Given the description of an element on the screen output the (x, y) to click on. 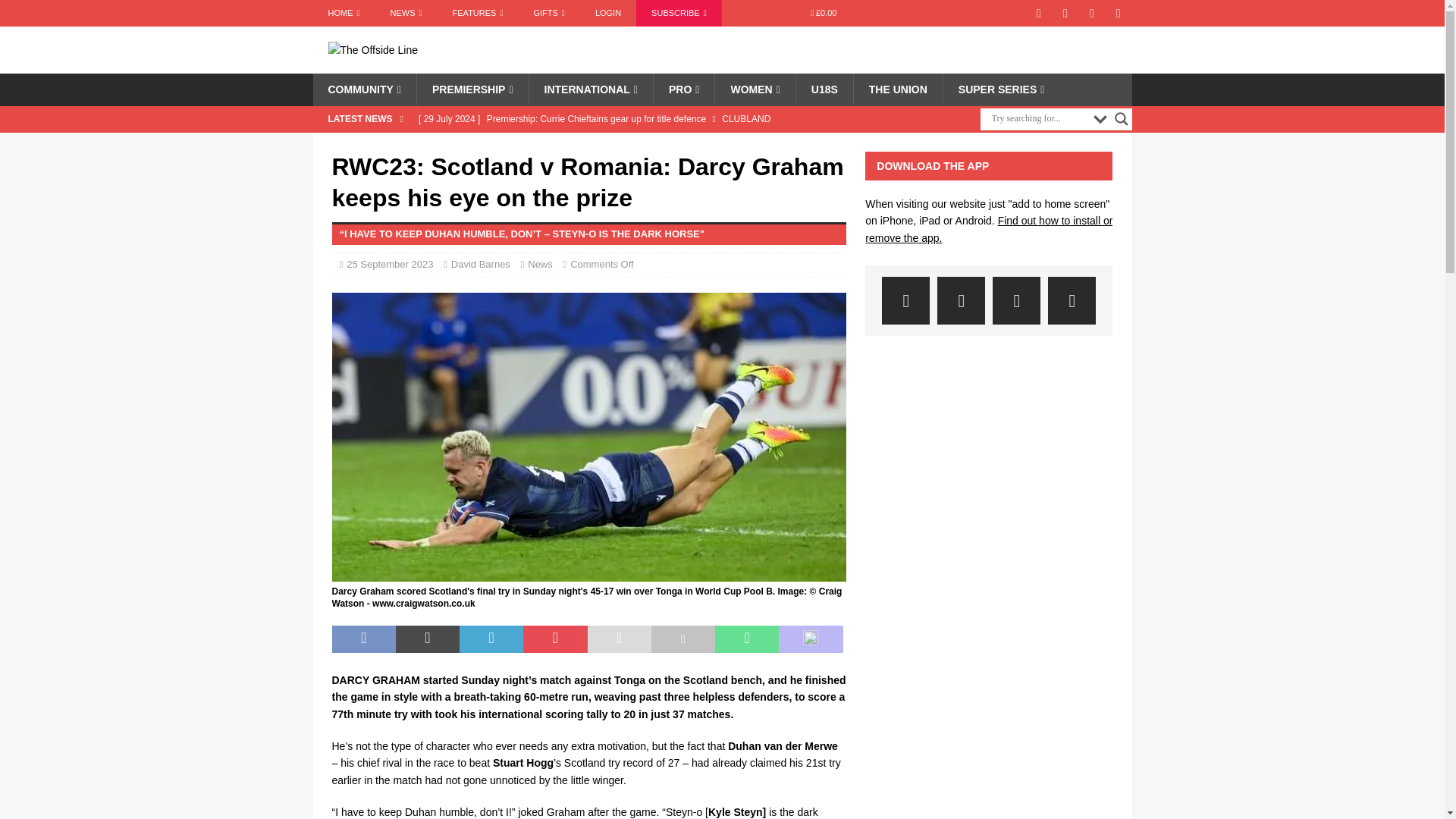
Scottish rugby news (406, 13)
Help us keep it covered this season (679, 13)
Start shopping (822, 13)
LOGIN (607, 13)
Scottish Rugby news coverage (343, 13)
SUBSCRIBE (679, 13)
GIFTS (548, 13)
FEATURES (478, 13)
Rugby Gifts (548, 13)
Community rugby in Scotland (363, 89)
NEWS (406, 13)
HOME (343, 13)
PREMIERSHIP (472, 89)
COMMUNITY (363, 89)
